Given the description of an element on the screen output the (x, y) to click on. 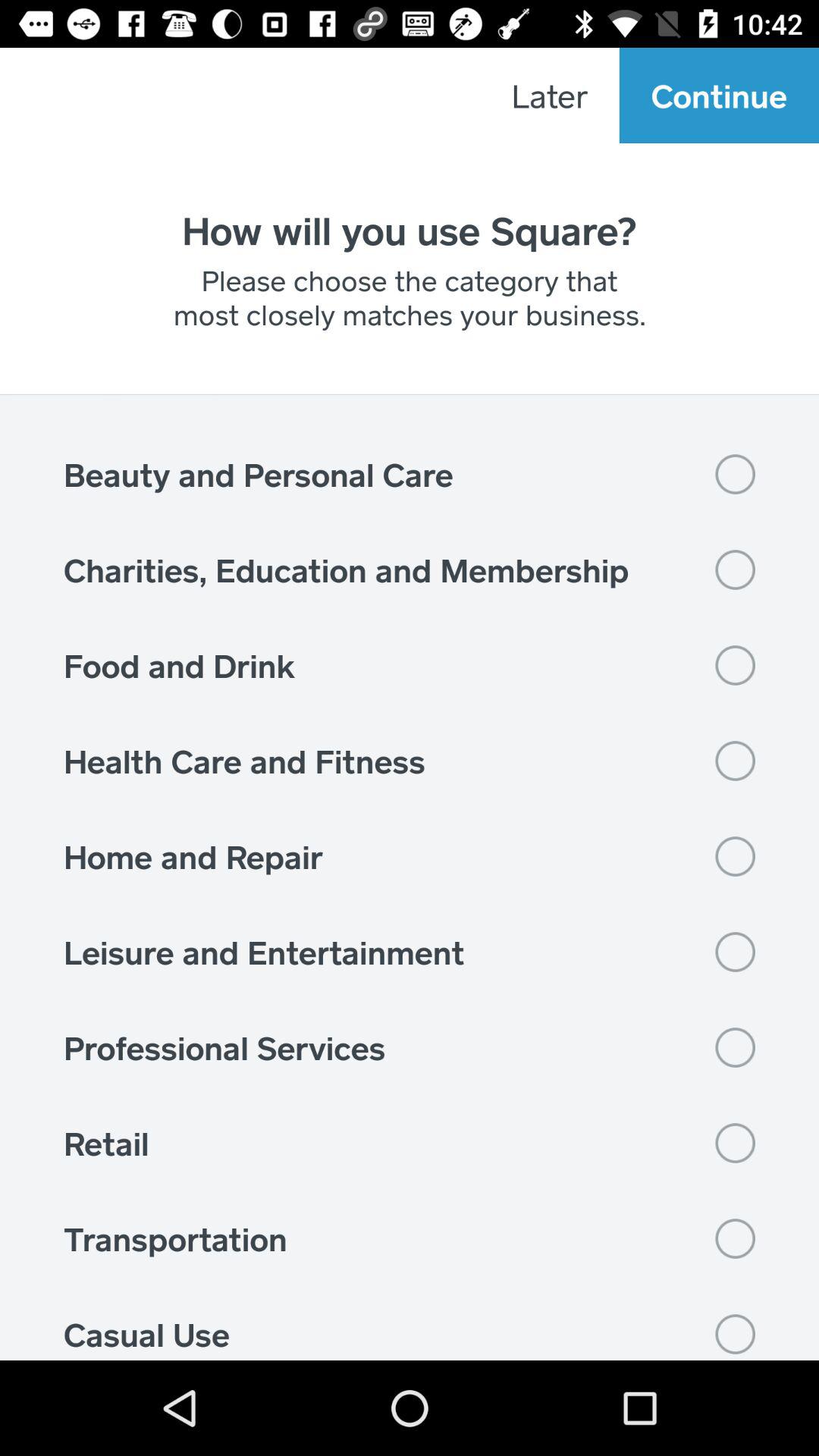
tap the item below beauty and personal item (409, 569)
